Given the description of an element on the screen output the (x, y) to click on. 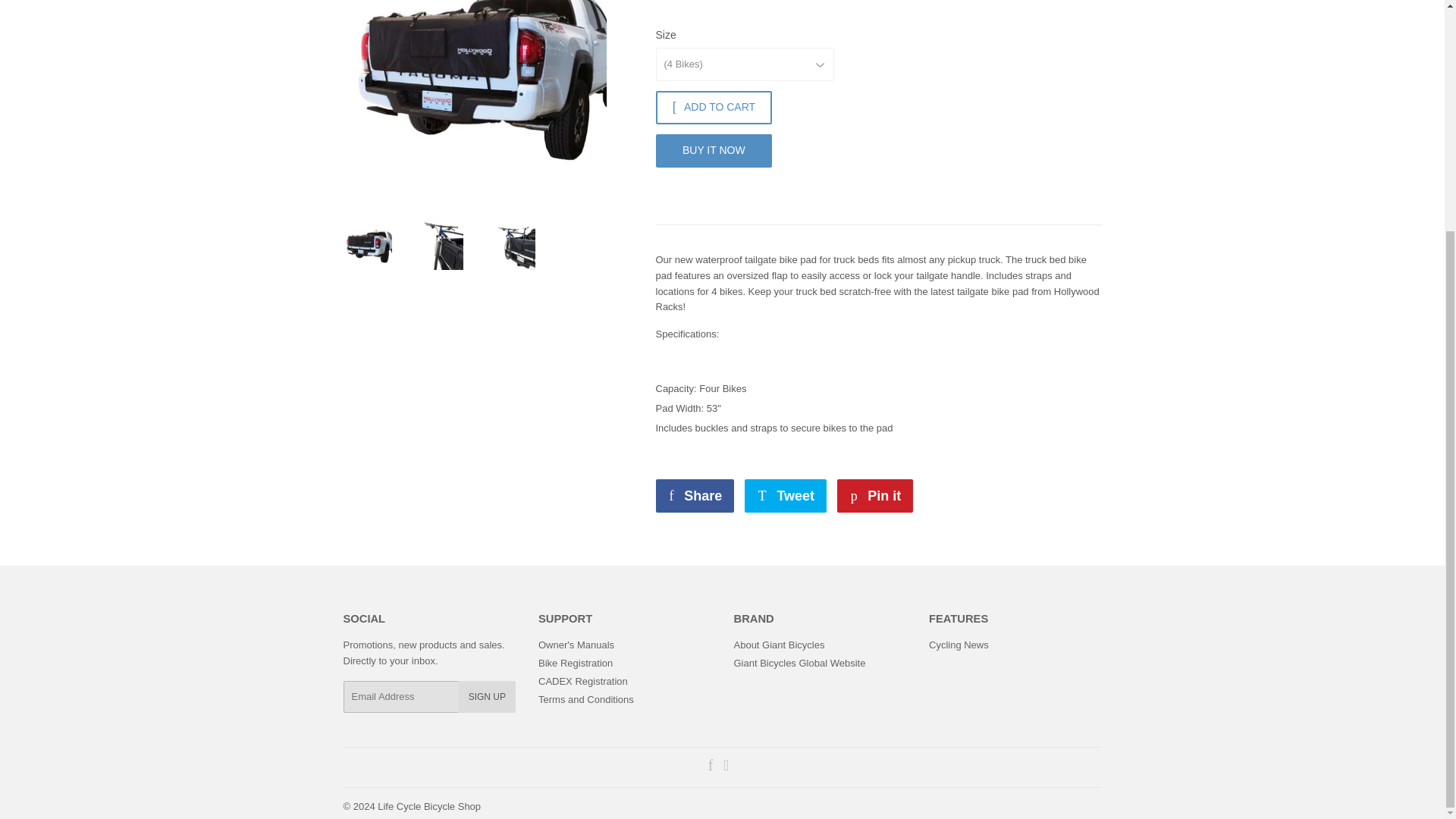
Life Cycle Bicycle Shop on Instagram (726, 767)
Tweet on Twitter (785, 495)
Life Cycle Bicycle Shop on Facebook (710, 767)
Pin on Pinterest (875, 495)
Share on Facebook (694, 495)
